Given the description of an element on the screen output the (x, y) to click on. 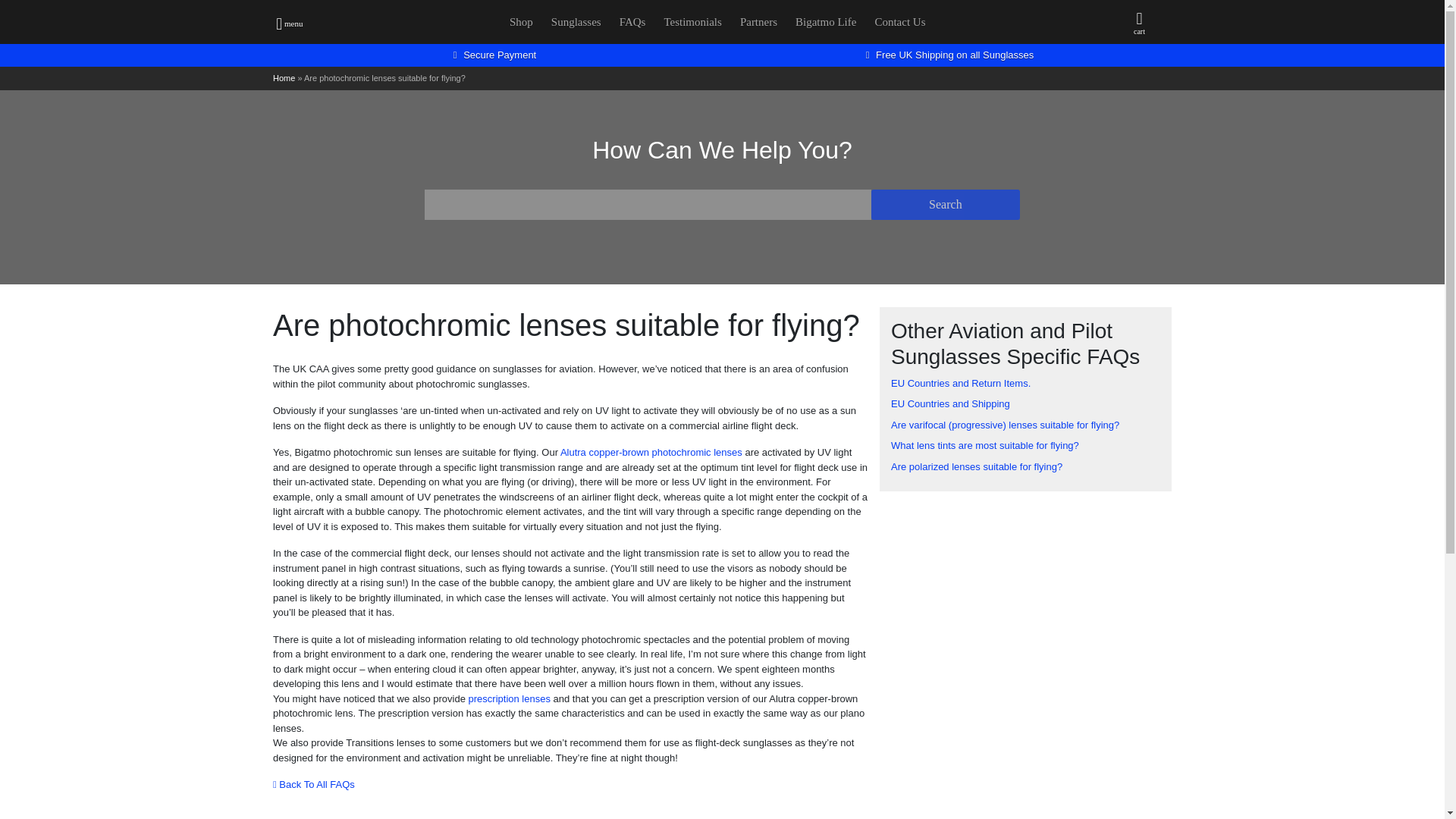
Sunglasses (575, 22)
Bigatmo Life (825, 22)
Shop (520, 22)
Testimonials (691, 22)
cart (1139, 24)
View your shopping cart (1139, 24)
FAQs (632, 22)
Search (945, 204)
Contact Us (899, 22)
Partners (758, 22)
